Given the description of an element on the screen output the (x, y) to click on. 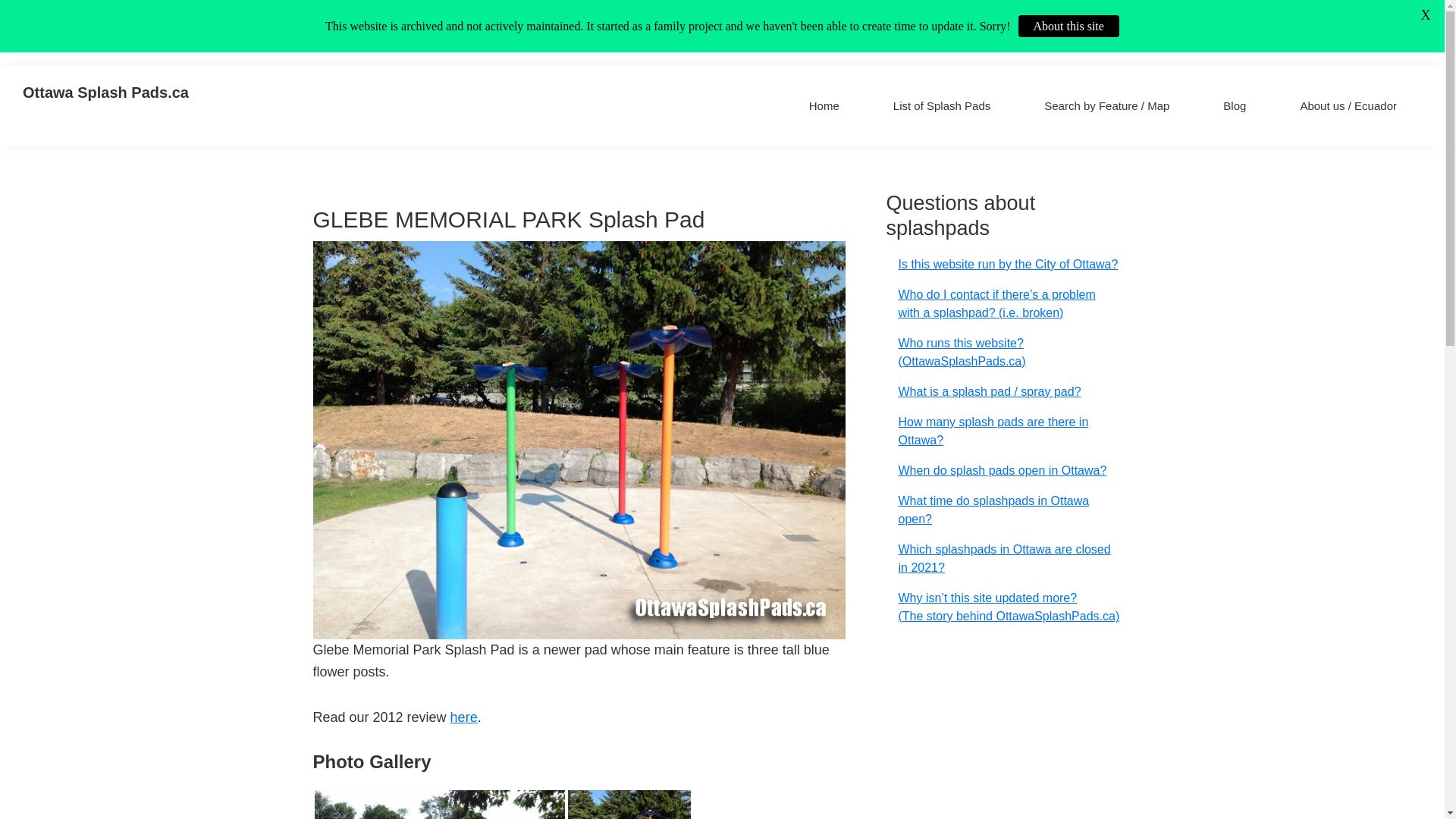
Blog (1234, 105)
How many splash pads are there in Ottawa? (992, 430)
When do splash pads open in Ottawa? (1002, 470)
Ottawa Splash Pads.ca (106, 92)
What time do splashpads in Ottawa open? (993, 509)
Is this website run by the City of Ottawa? (1008, 264)
Home (823, 105)
glebe-memorial-park-20120722-1 (439, 804)
glebe-memorial-park-20120722-2 (628, 804)
Which splashpads in Ottawa are closed in 2021? (1003, 558)
About this site (1068, 25)
List of Splash Pads (941, 105)
here (463, 717)
